Given the description of an element on the screen output the (x, y) to click on. 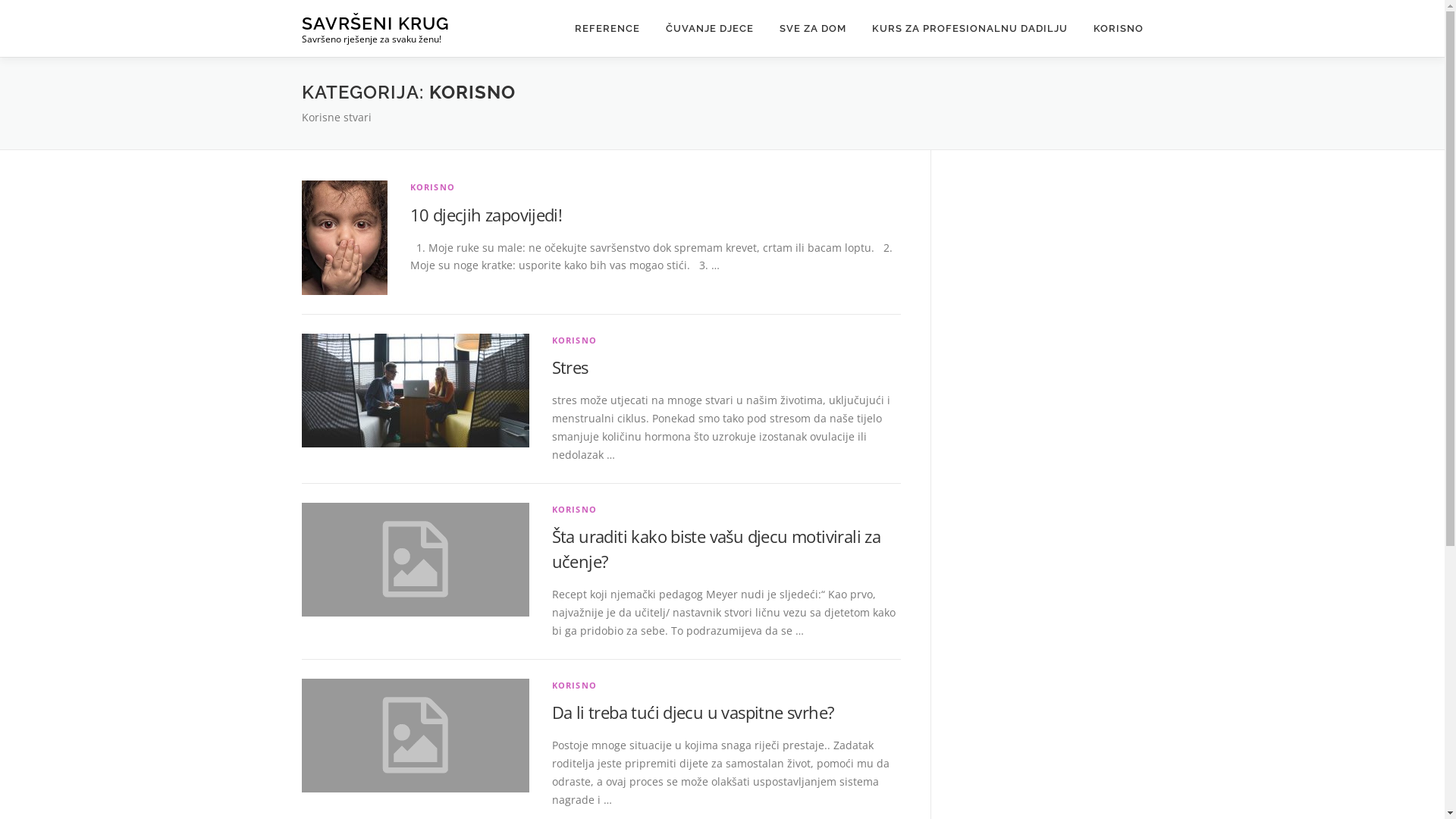
KORISNO Element type: text (431, 186)
10 djecjih zapovijedi! Element type: text (485, 214)
KORISNO Element type: text (574, 684)
KORISNO Element type: text (574, 339)
KORISNO Element type: text (574, 508)
SVE ZA DOM Element type: text (811, 28)
KORISNO Element type: text (1110, 28)
Stres Element type: text (570, 366)
REFERENCE Element type: text (606, 28)
KURS ZA PROFESIONALNU DADILJU Element type: text (968, 28)
